Given the description of an element on the screen output the (x, y) to click on. 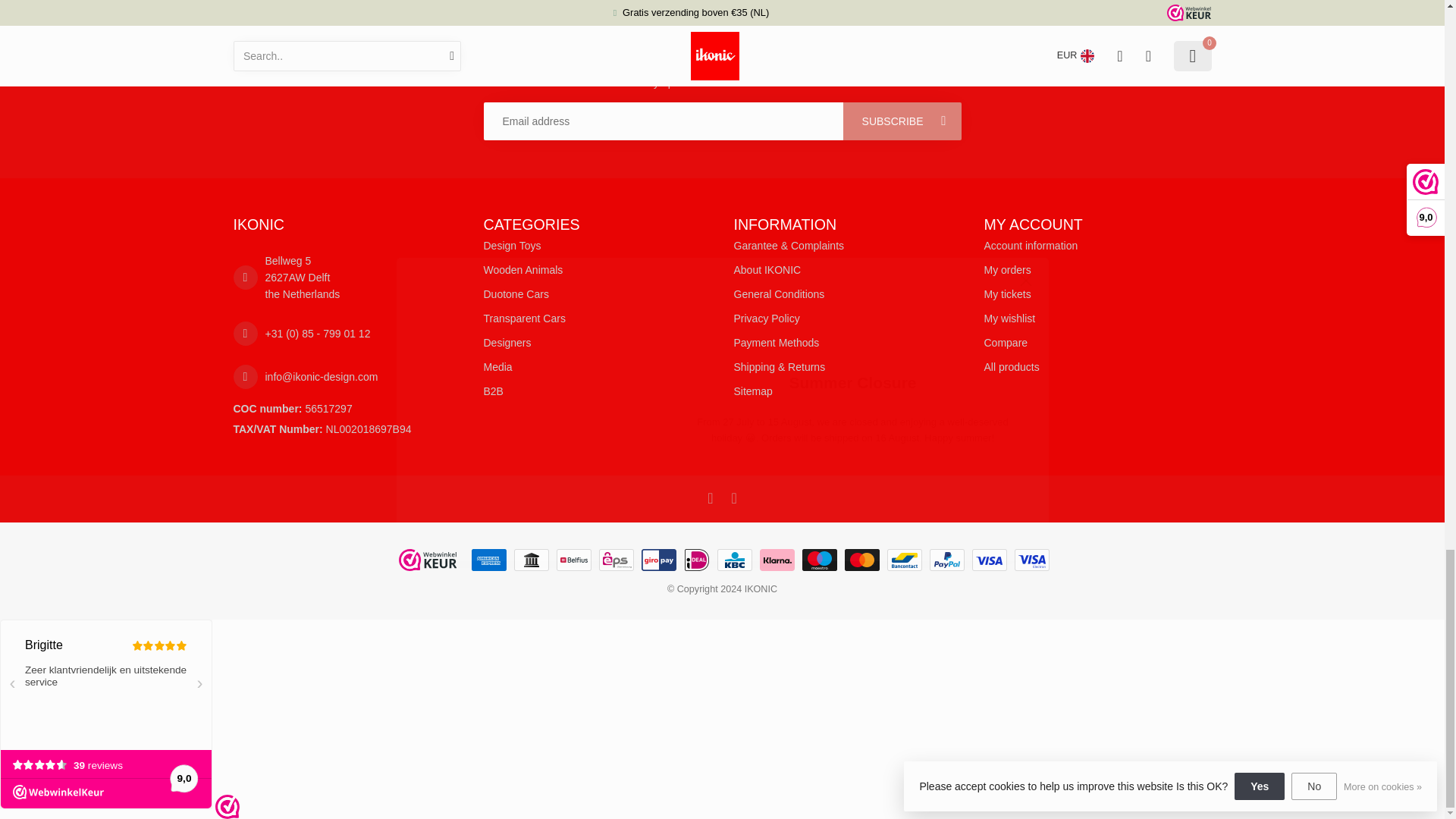
Privacy Policy (846, 318)
About IKONIC (846, 269)
General Conditions (846, 293)
Payment Methods (846, 342)
